Given the description of an element on the screen output the (x, y) to click on. 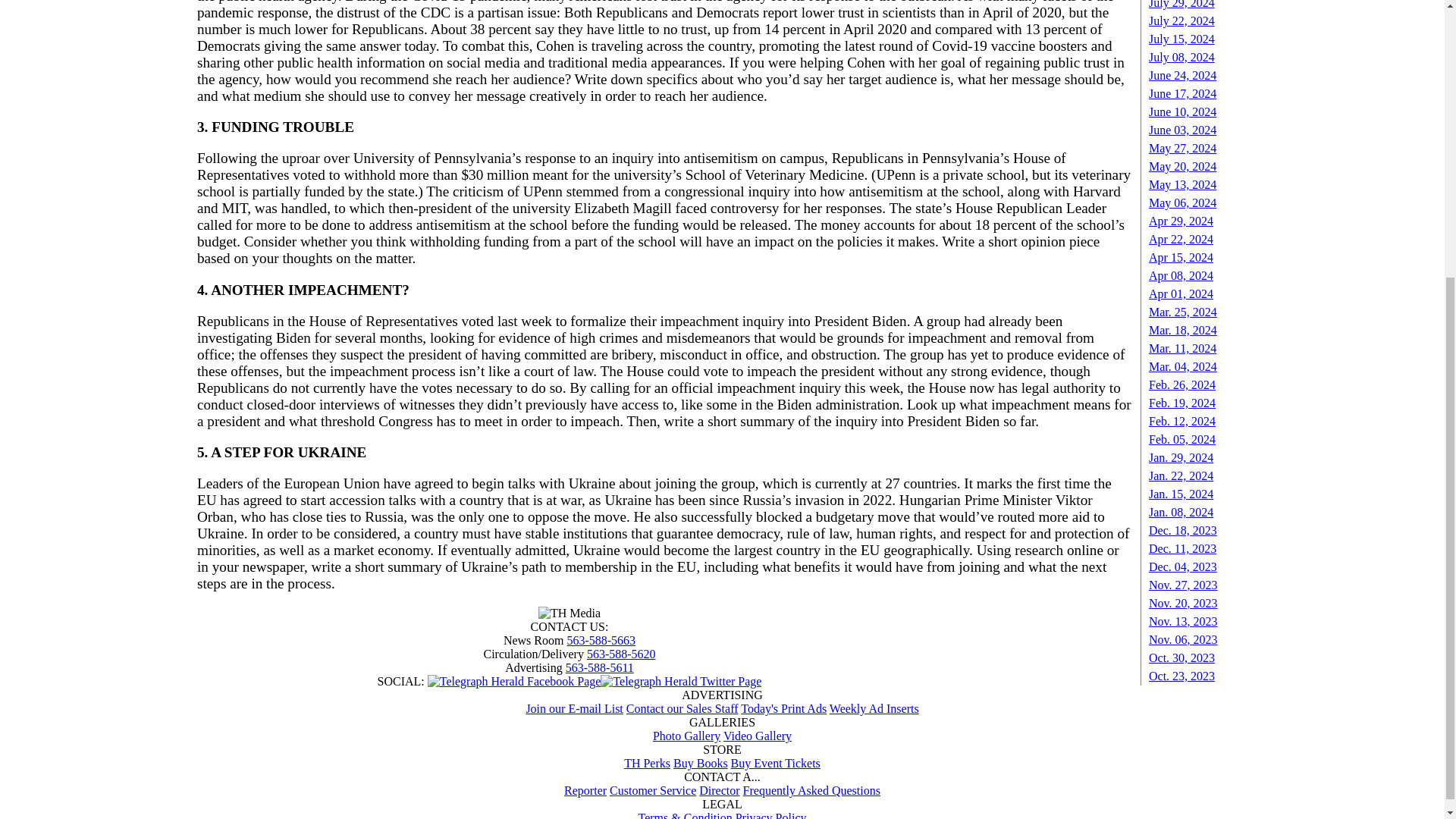
June 17, 2024 (1181, 92)
July 22, 2024 (1181, 20)
June 24, 2024 (1181, 74)
June 03, 2024 (1181, 129)
July 15, 2024 (1181, 38)
May 27, 2024 (1181, 147)
July 08, 2024 (1181, 56)
July 29, 2024 (1181, 4)
May 20, 2024 (1181, 165)
June 10, 2024 (1181, 111)
